Given the description of an element on the screen output the (x, y) to click on. 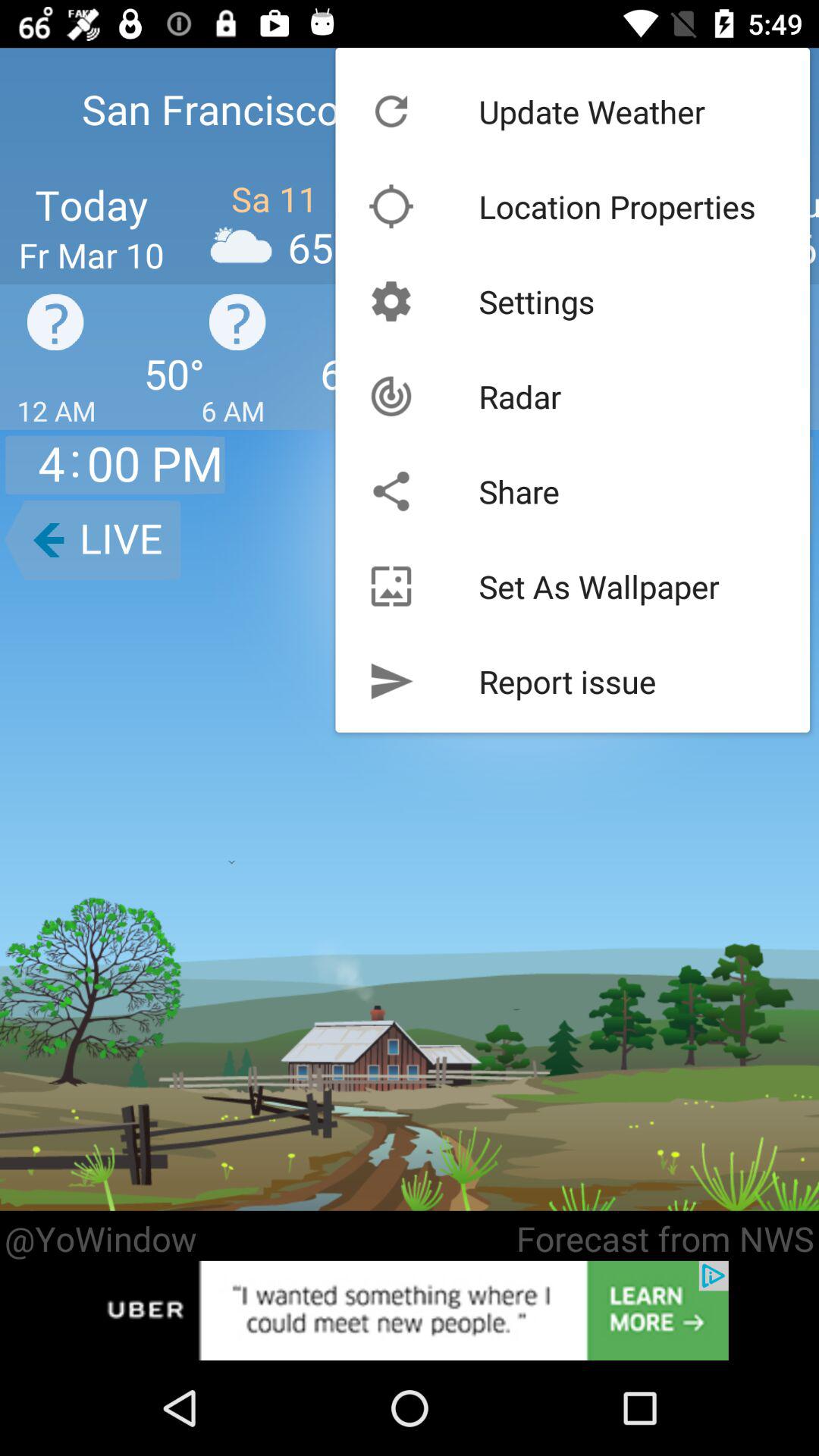
open the icon above the settings (616, 206)
